Given the description of an element on the screen output the (x, y) to click on. 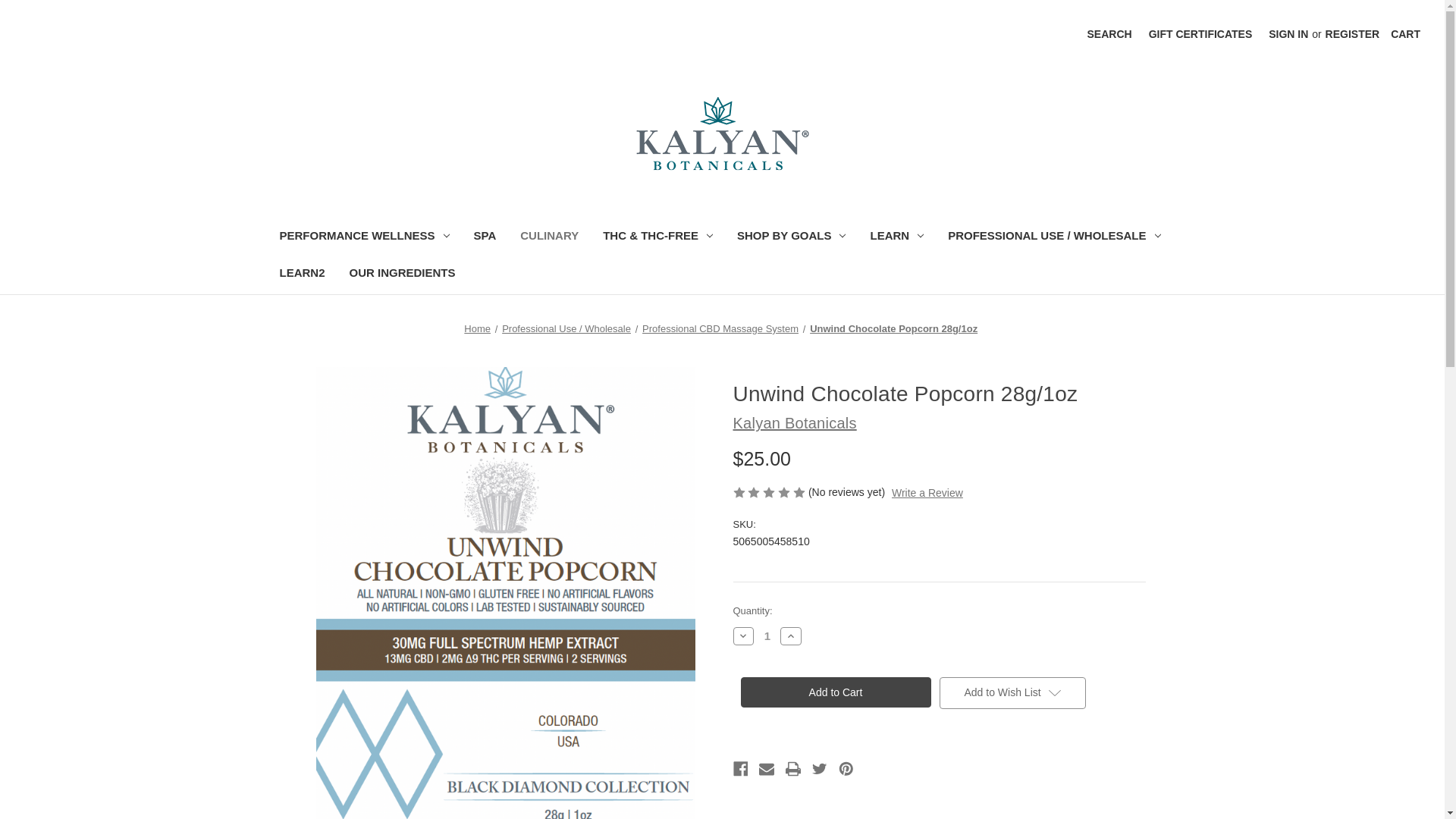
kalyan Botanicals LLC (721, 133)
SPA (484, 237)
Facebook (740, 768)
LEARN2 (301, 274)
CULINARY (549, 237)
Email (766, 768)
CART (1404, 34)
Twitter (819, 768)
1 (767, 635)
SEARCH (1109, 34)
SHOP BY GOALS (791, 237)
PERFORMANCE WELLNESS (363, 237)
Add to Cart (834, 692)
REGISTER (1353, 34)
LEARN (896, 237)
